Given the description of an element on the screen output the (x, y) to click on. 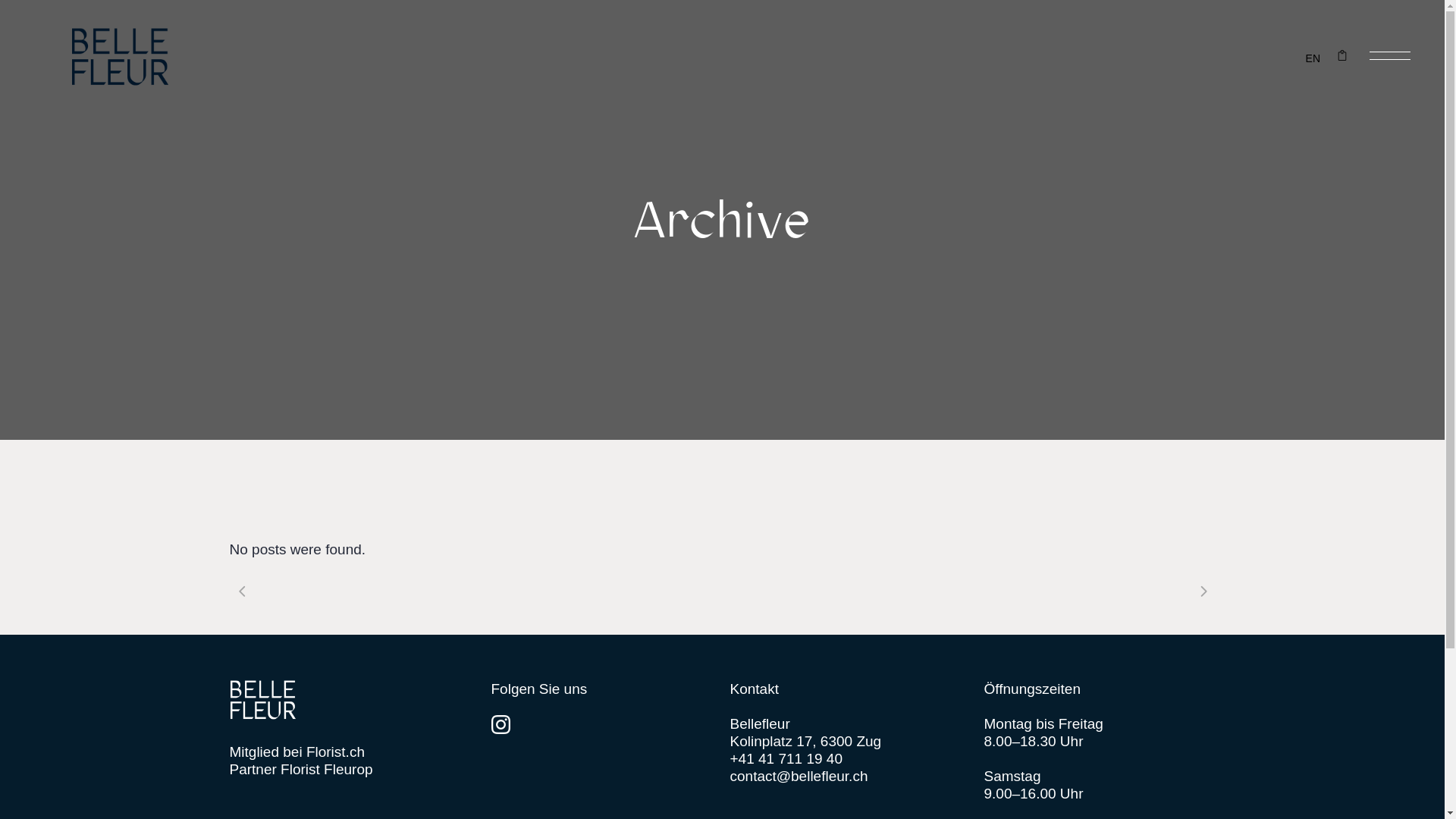
Florist.ch Element type: text (335, 751)
+41 41 711 19 40 Element type: text (785, 758)
contact@bellefleur.ch Element type: text (798, 776)
Kolinplatz 17, 6300 Zug Element type: text (805, 741)
EN Element type: text (1312, 57)
Fleurop Element type: text (347, 769)
